Given the description of an element on the screen output the (x, y) to click on. 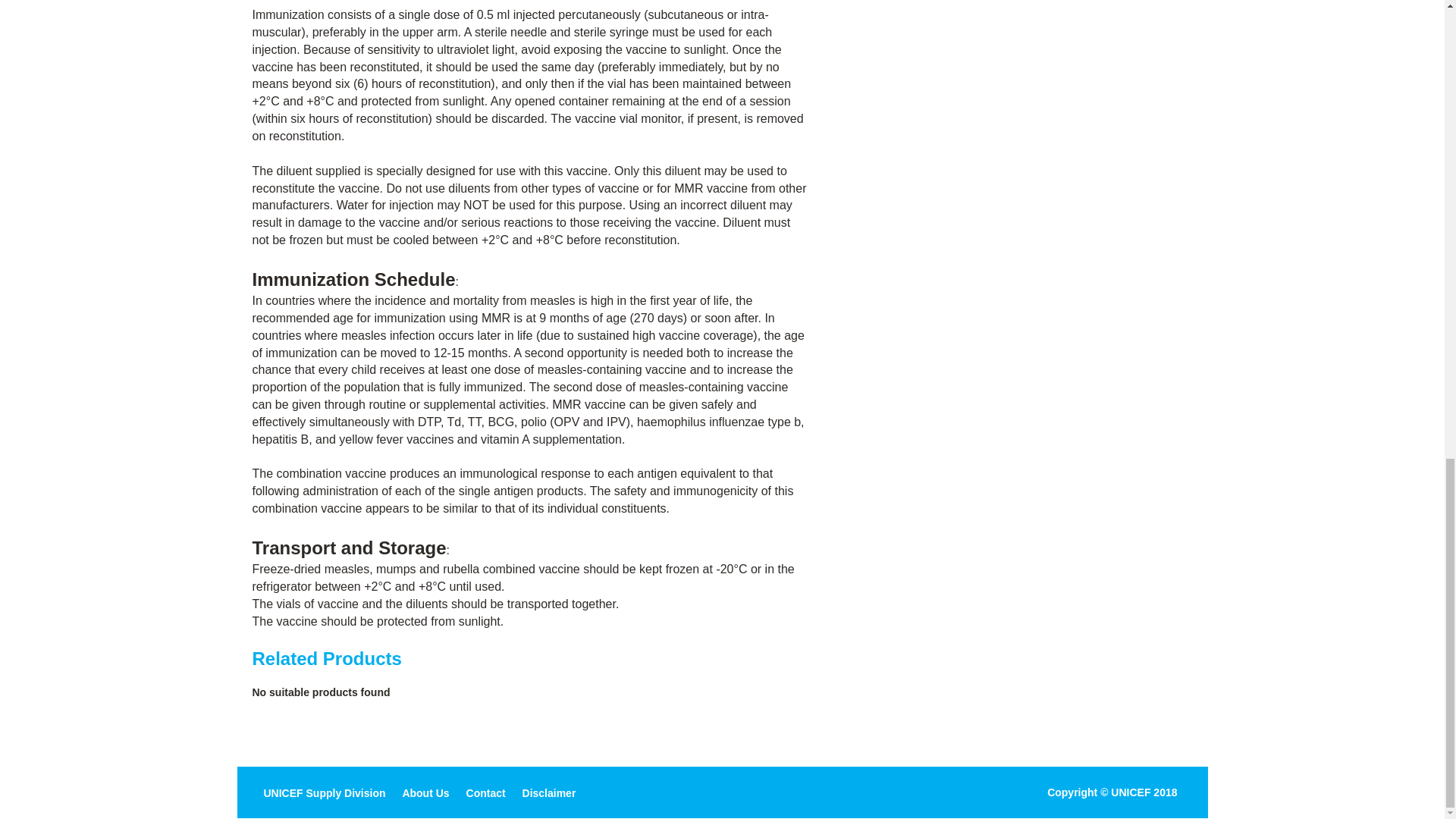
UNICEF Supply Division (324, 793)
